Given the description of an element on the screen output the (x, y) to click on. 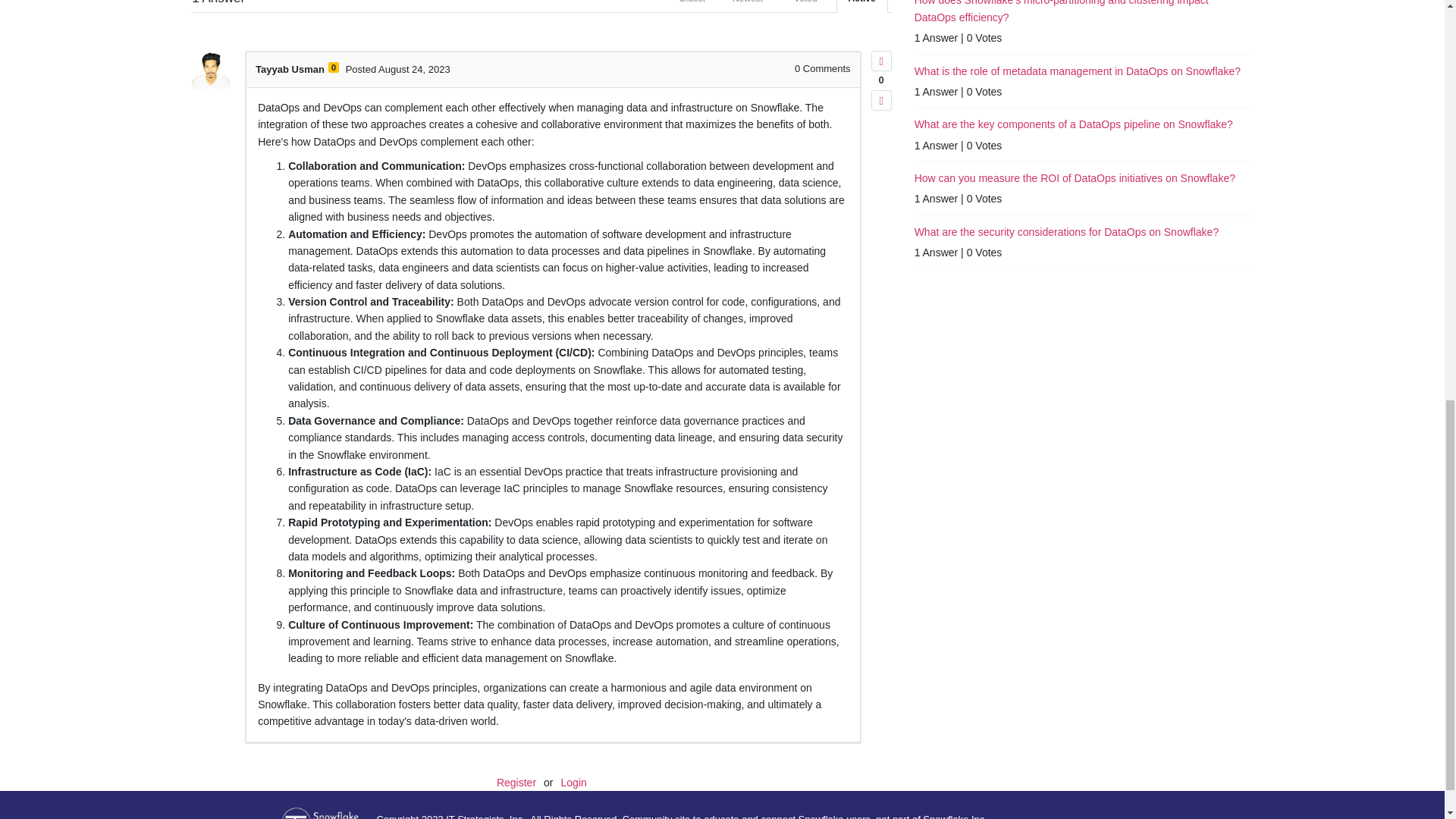
Up vote this answer (880, 60)
Reputation (334, 67)
Down vote this answer (880, 100)
